Given the description of an element on the screen output the (x, y) to click on. 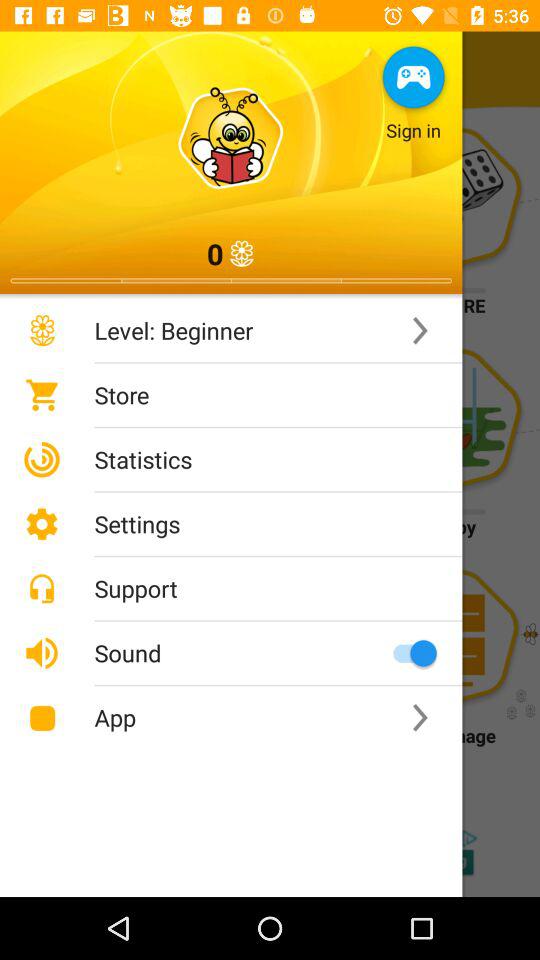
select the icon on left side of app text (42, 717)
